Given the description of an element on the screen output the (x, y) to click on. 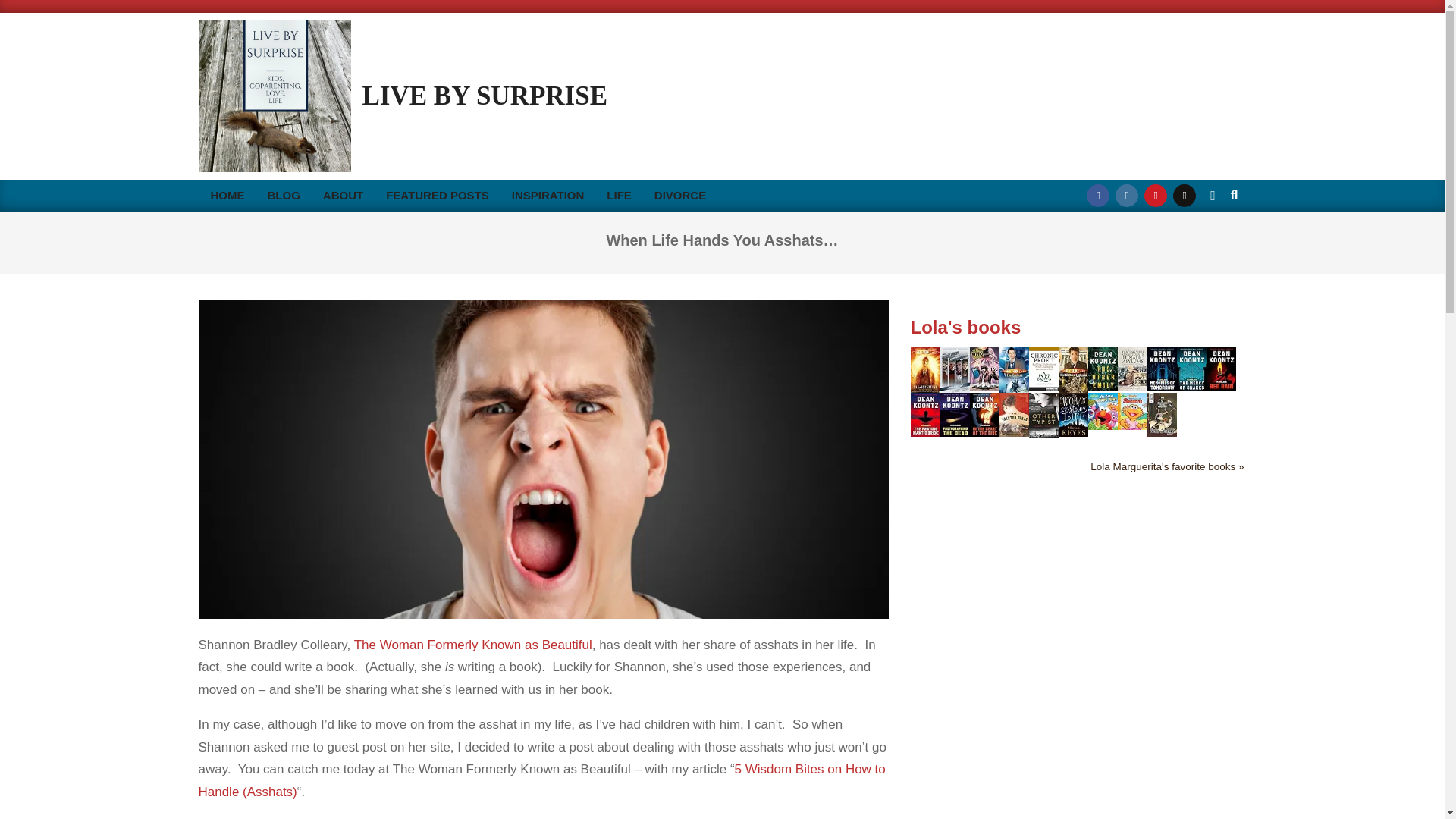
Doctor Who: The Forgotten (924, 356)
LIVE BY SURPRISE (485, 95)
LIFE (619, 195)
INSPIRATION (547, 195)
ABOUT (342, 195)
FEATURED POSTS (457, 195)
The Woman Formerly Known as Beautiful (437, 195)
BLOG (472, 644)
